Given the description of an element on the screen output the (x, y) to click on. 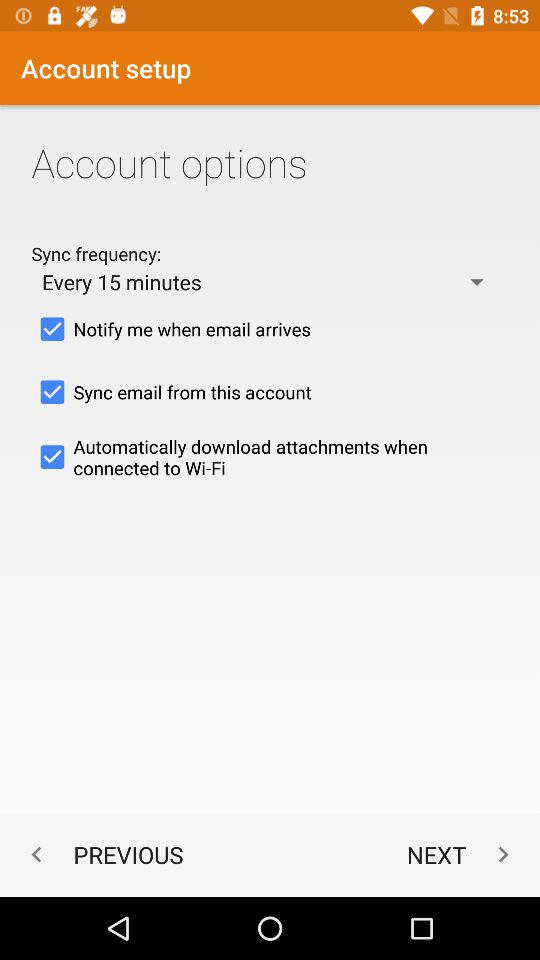
open icon below sync email from icon (269, 457)
